Given the description of an element on the screen output the (x, y) to click on. 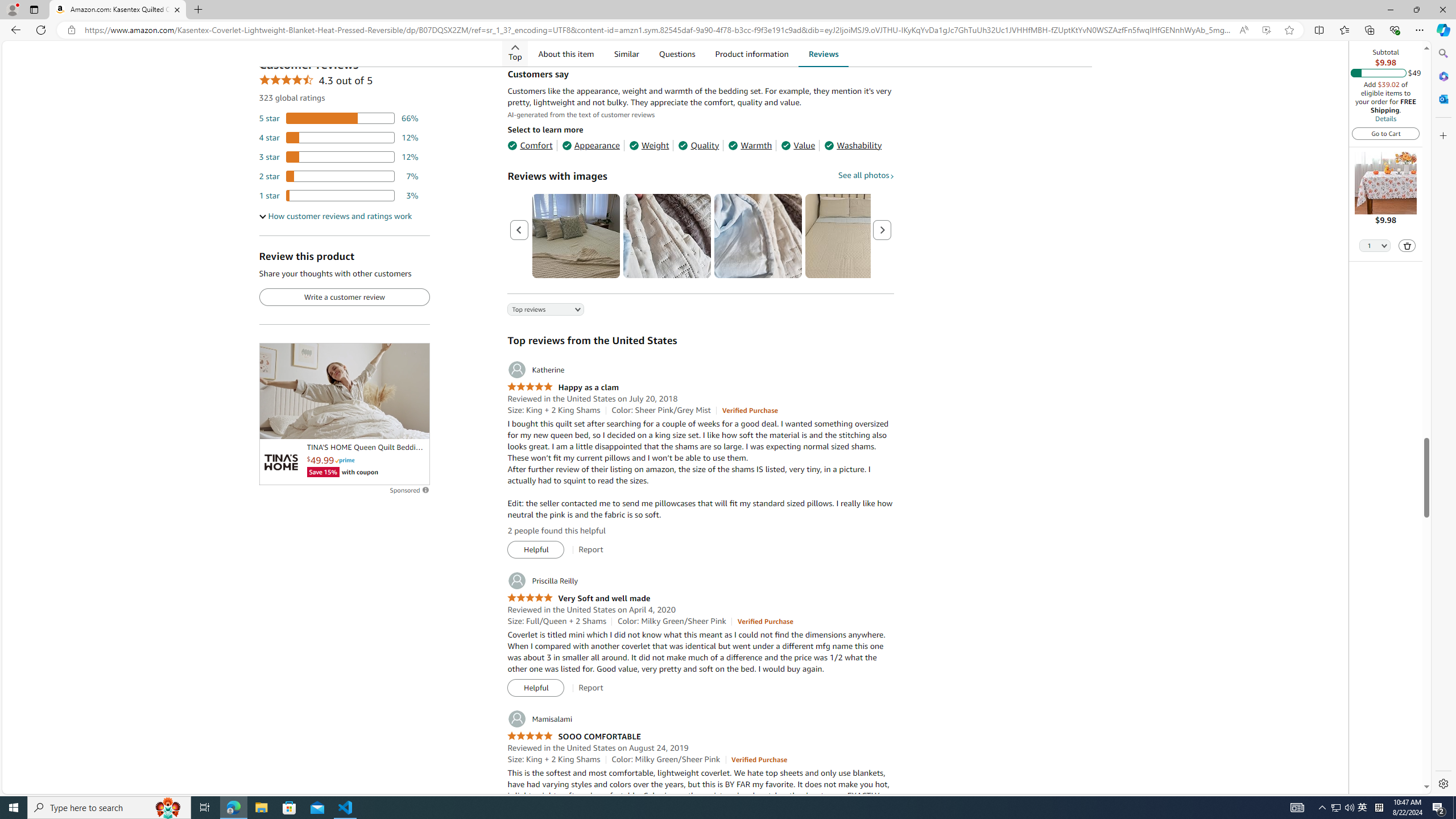
7 percent of reviews have 2 stars (339, 175)
Appearance (591, 145)
Write a customer review (344, 296)
12 percent of reviews have 4 stars (339, 137)
Warmth (749, 145)
Questions (675, 53)
Product information (750, 53)
